Given the description of an element on the screen output the (x, y) to click on. 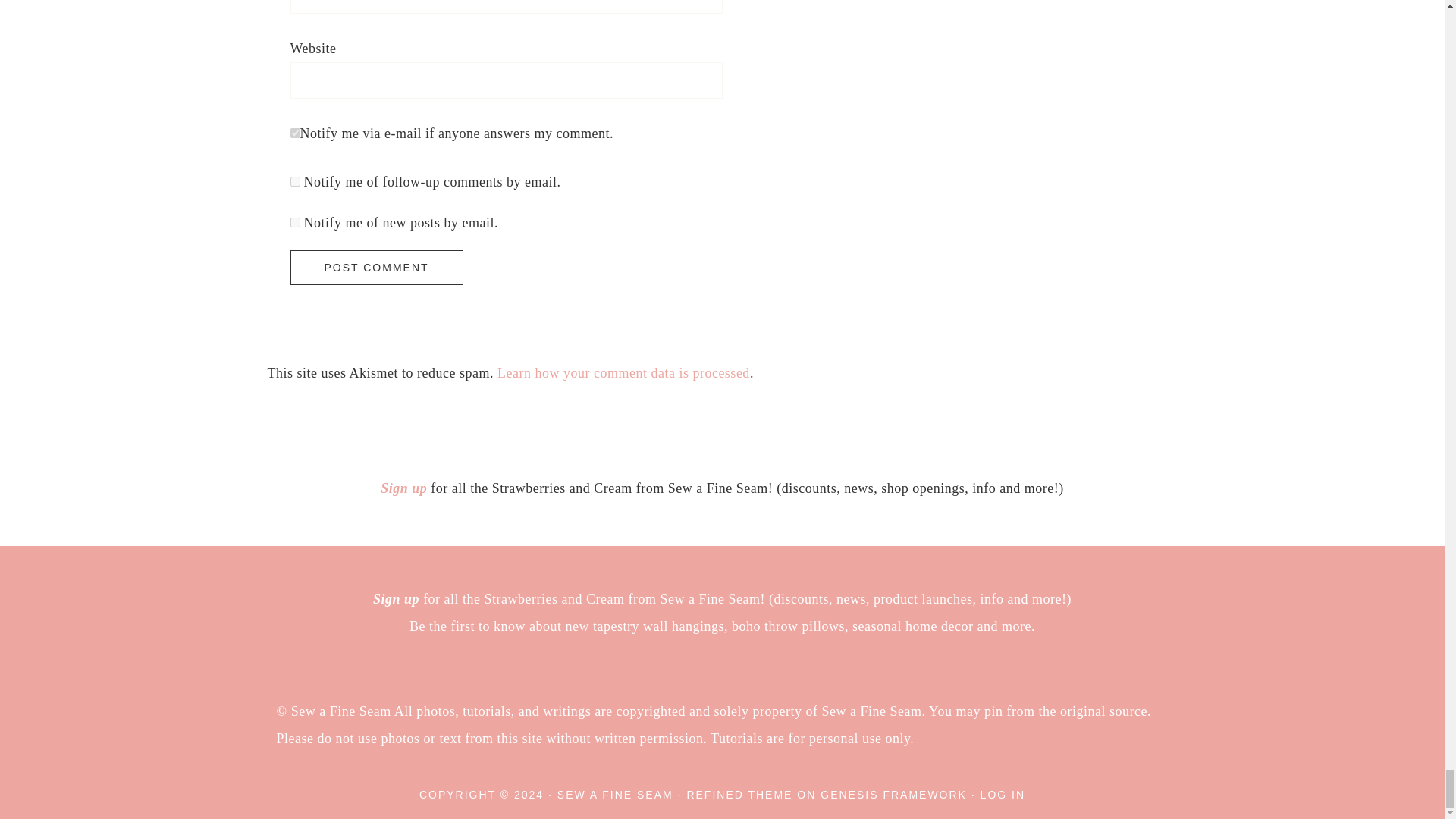
on (294, 132)
Post Comment (376, 267)
subscribe (294, 222)
subscribe (294, 181)
